Given the description of an element on the screen output the (x, y) to click on. 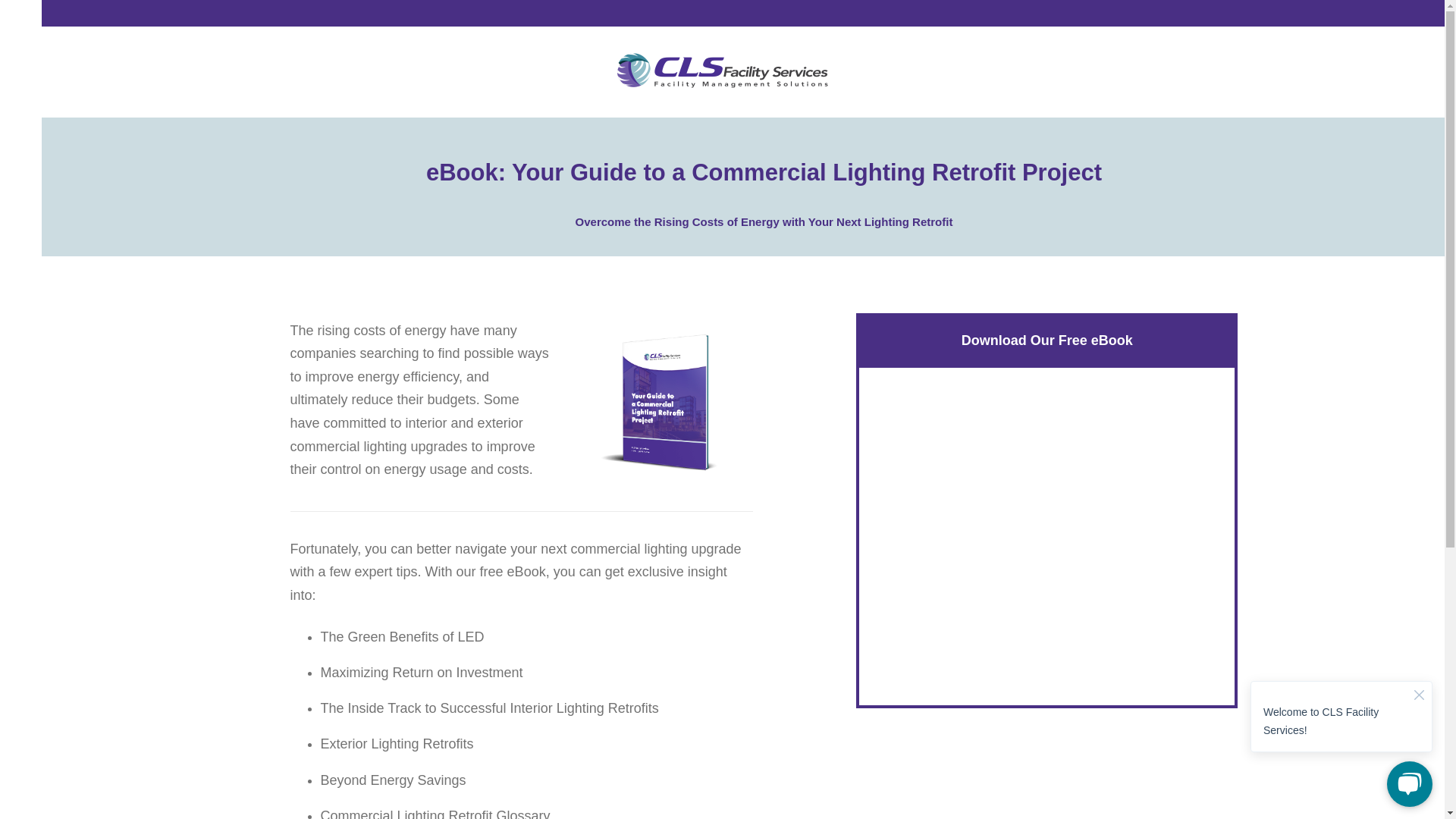
CLS - LED Retrofits -350x350 (662, 402)
Form 0 (1046, 536)
CLS Facility Services (721, 71)
